Given the description of an element on the screen output the (x, y) to click on. 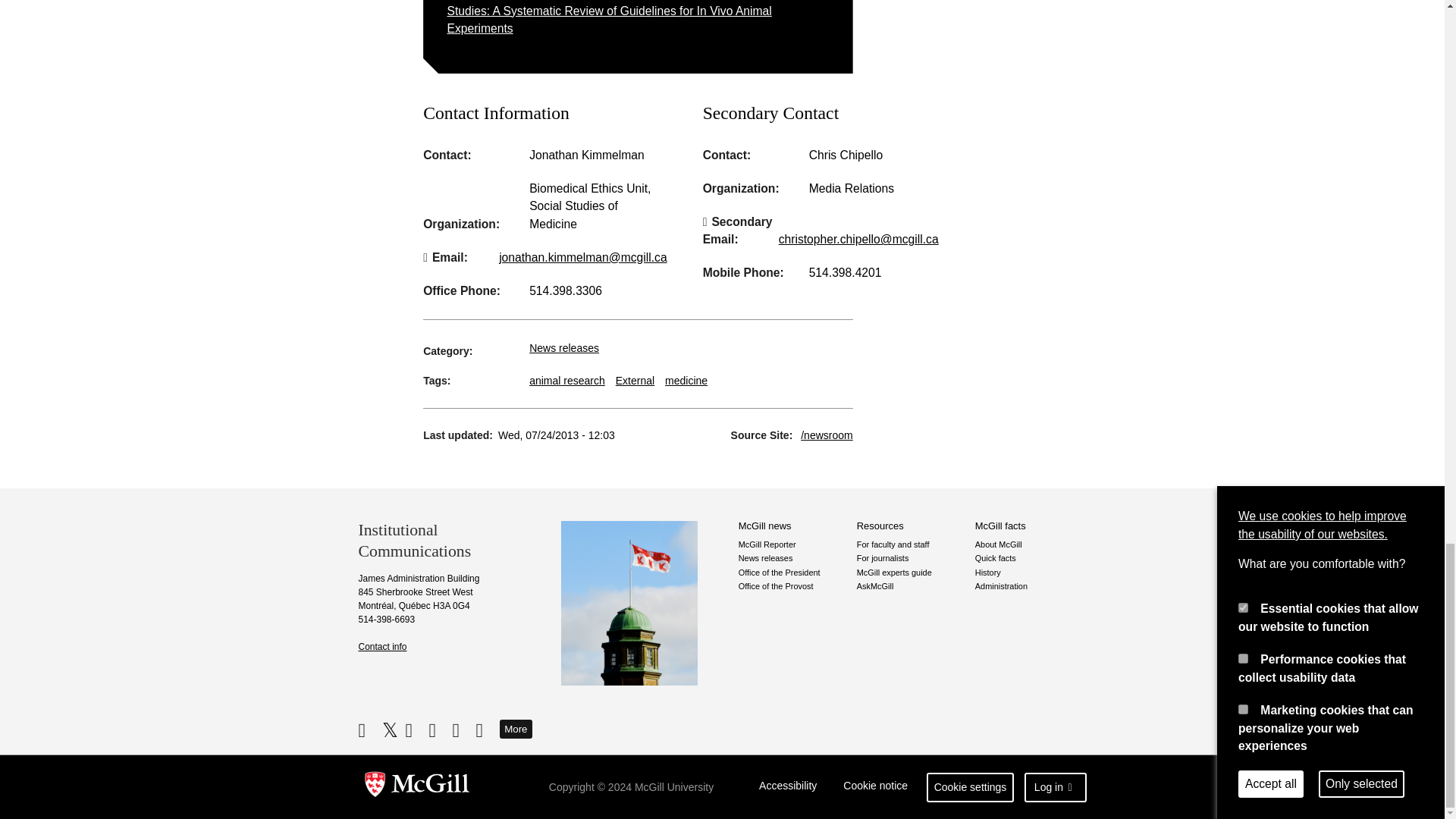
medicine (686, 380)
animal research (567, 380)
News releases (563, 347)
Contact info (382, 646)
External (634, 380)
